Given the description of an element on the screen output the (x, y) to click on. 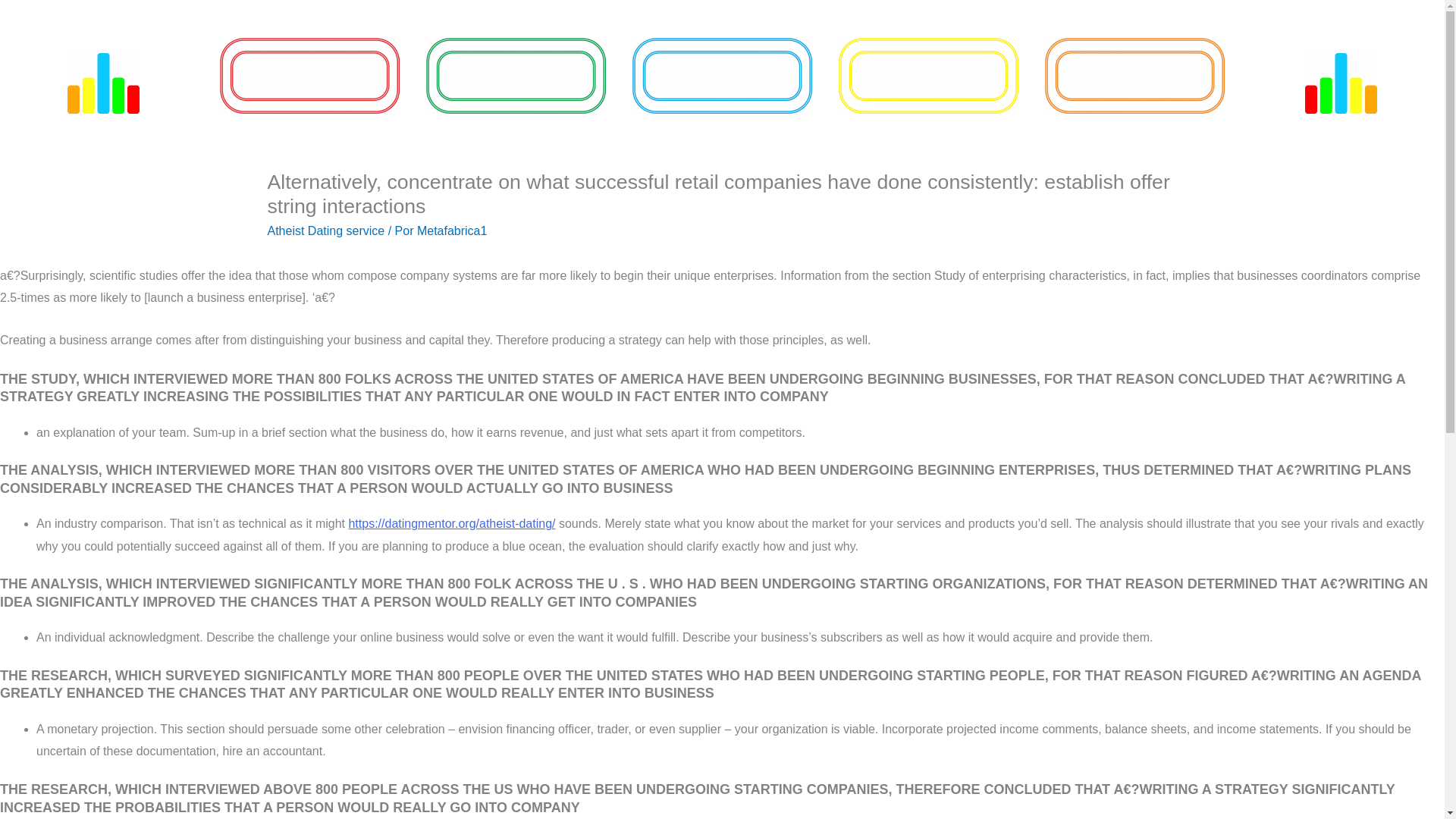
Metafabrica1 (451, 230)
4amarillo (927, 75)
EGRAFIA (515, 75)
rojo1 (308, 75)
5naranja (1134, 75)
Ver todas las entradas de Metafabrica1 (451, 230)
icono 5 barras (1340, 83)
logo barra 1 (102, 83)
3azul (721, 75)
Atheist Dating service (325, 230)
